Given the description of an element on the screen output the (x, y) to click on. 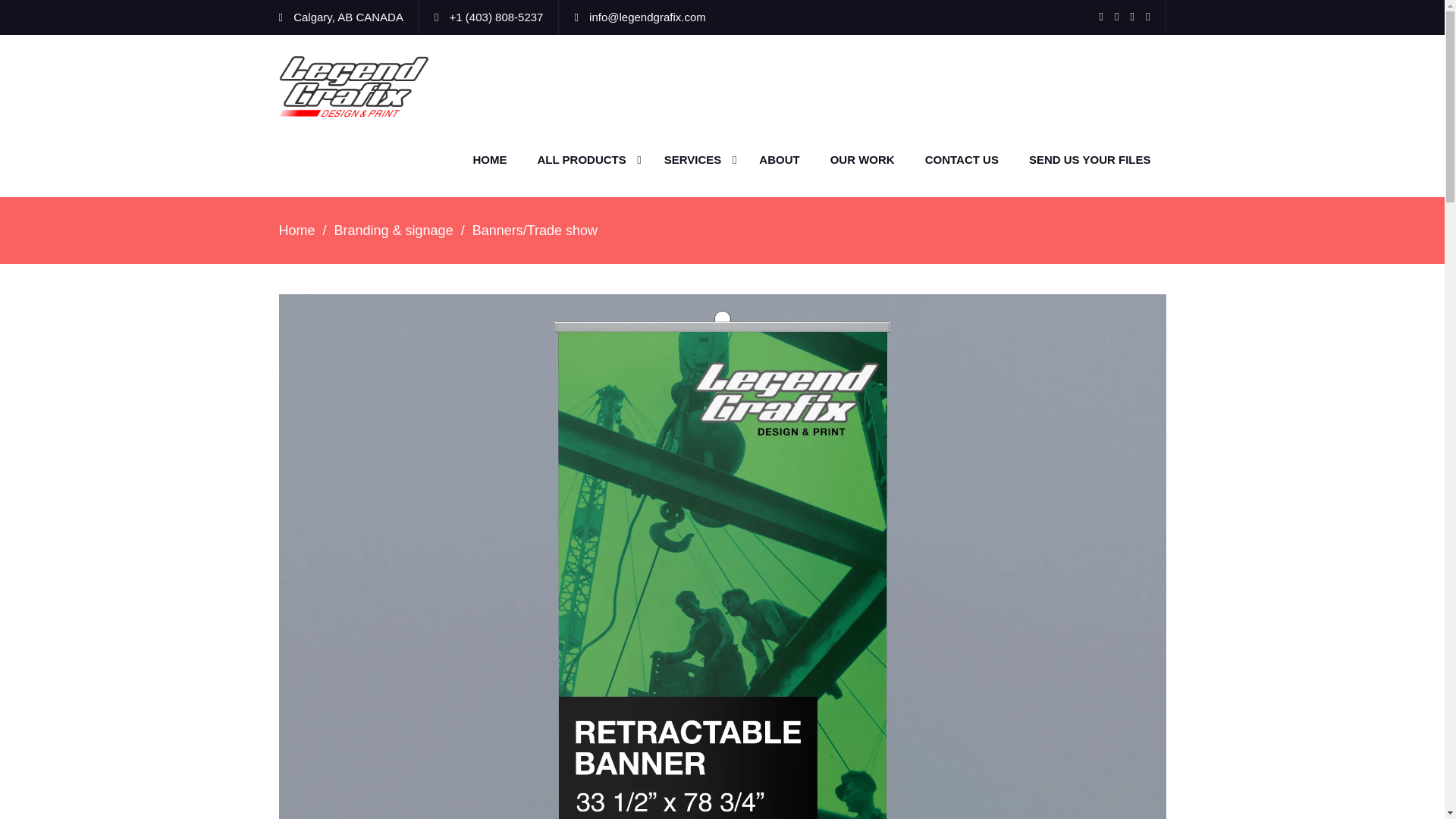
ALL PRODUCTS (585, 159)
CONTACT US (961, 159)
OUR WORK (862, 159)
Home (297, 230)
ABOUT (778, 159)
SERVICES (696, 159)
SEND US YOUR FILES (1089, 159)
